Given the description of an element on the screen output the (x, y) to click on. 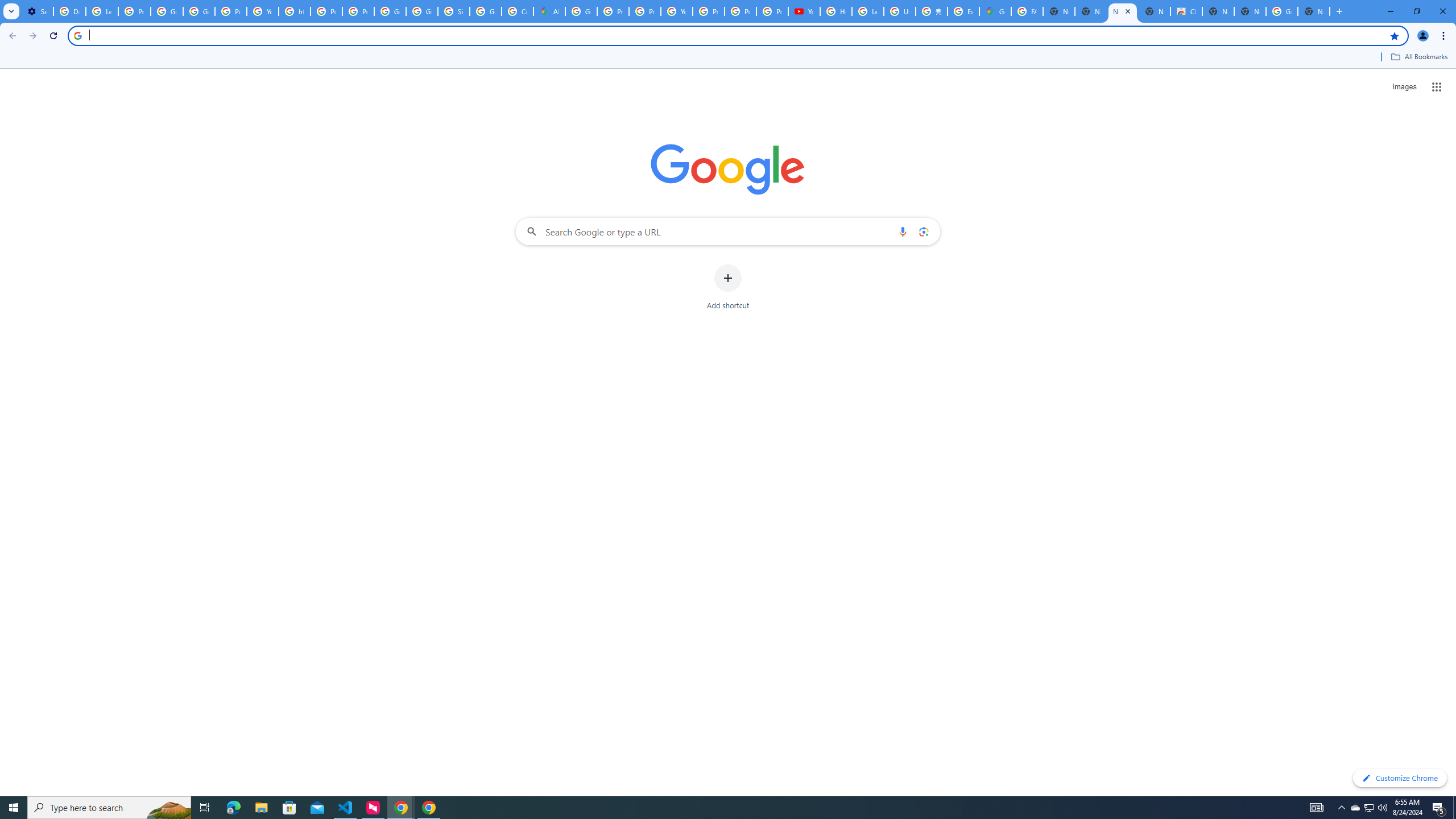
How Chrome protects your passwords - Google Chrome Help (836, 11)
New Tab (1313, 11)
YouTube (804, 11)
Privacy Help Center - Policies Help (613, 11)
